Given the description of an element on the screen output the (x, y) to click on. 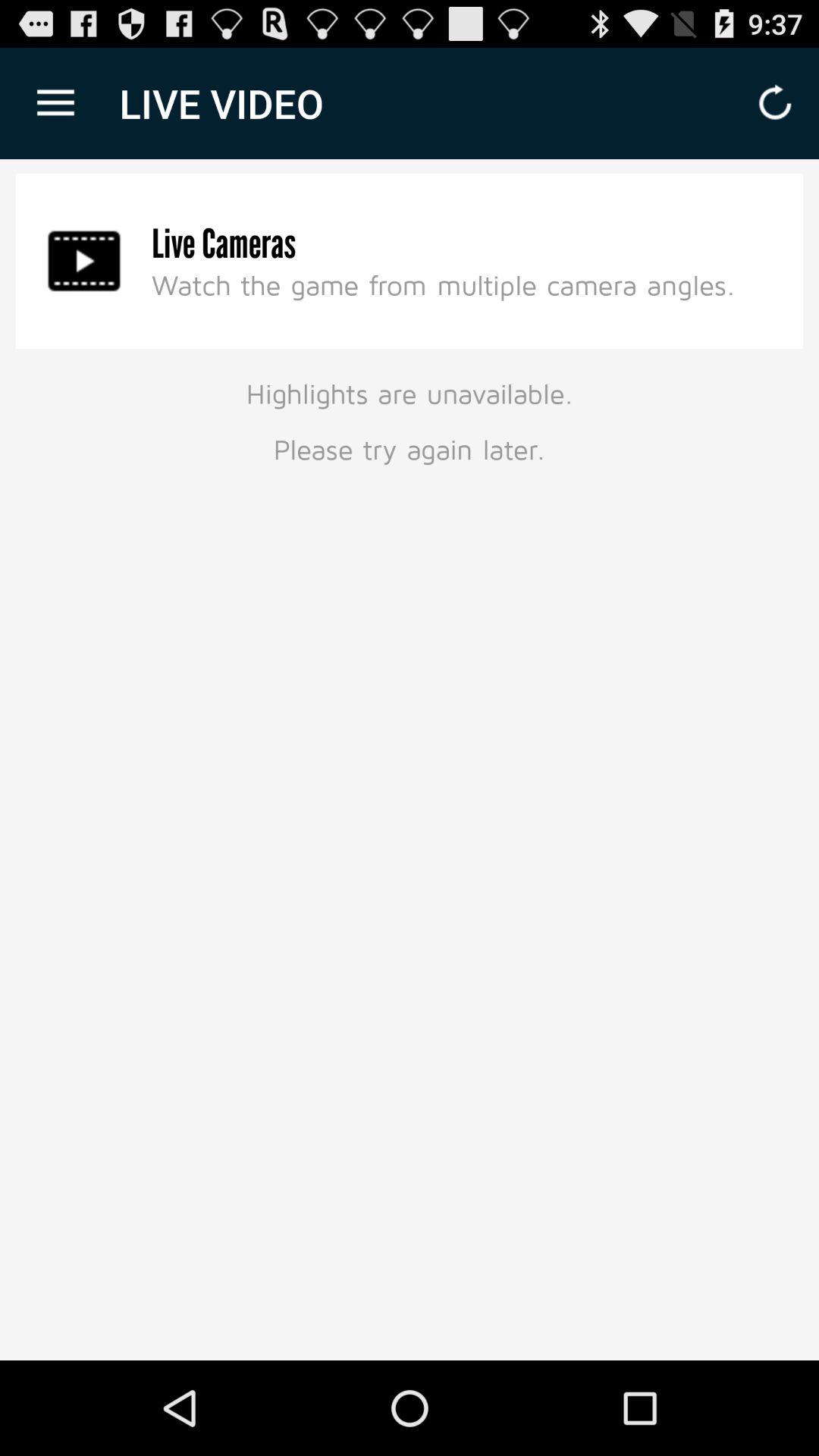
jump to the live cameras (223, 243)
